Given the description of an element on the screen output the (x, y) to click on. 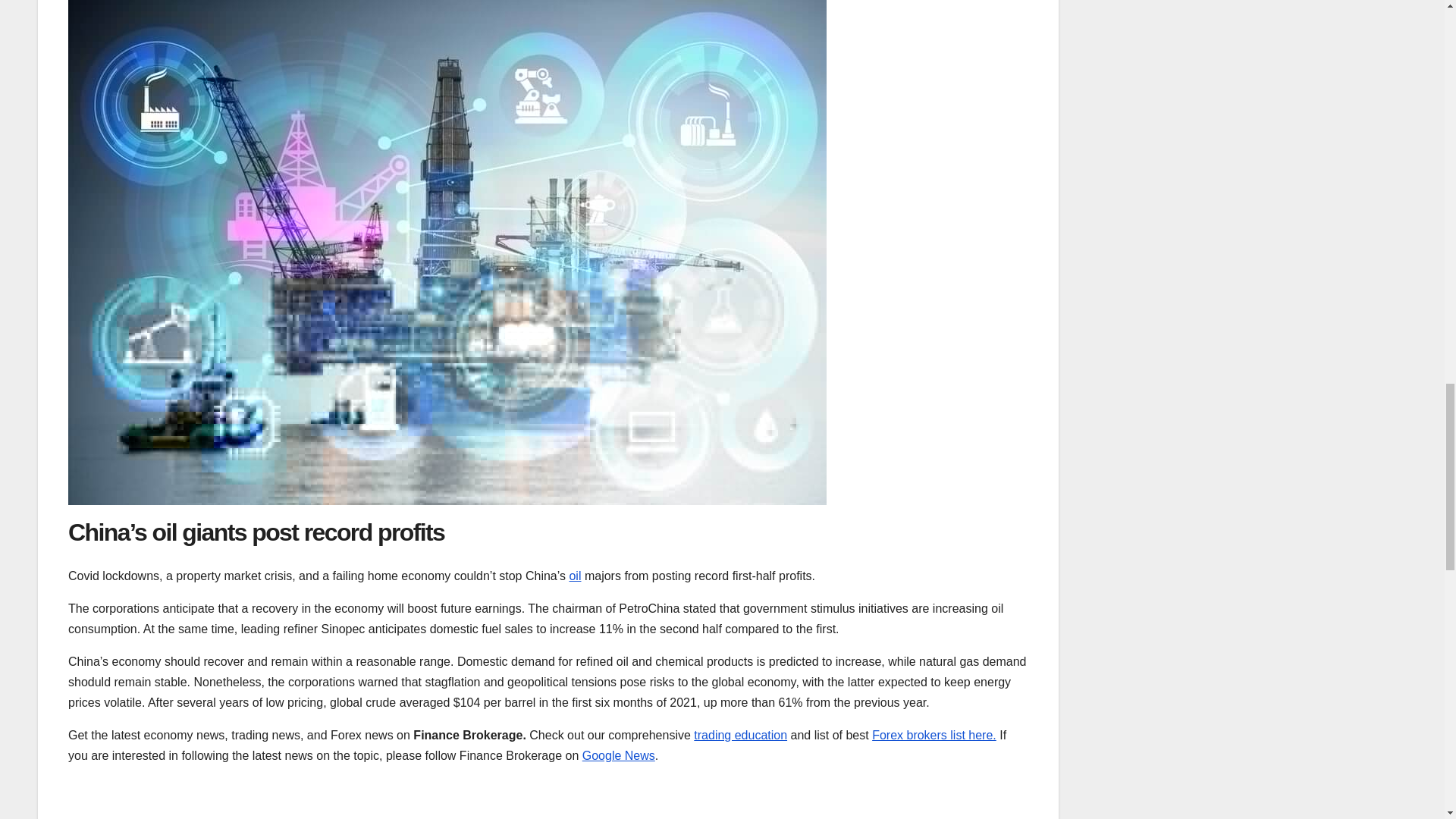
trading education (740, 735)
Trading Education (740, 735)
Forex brokers list here. (933, 735)
Google News (618, 755)
FinanceBrokerage.com on Google News (618, 755)
Forex brokers list (933, 735)
oil (574, 575)
